Given the description of an element on the screen output the (x, y) to click on. 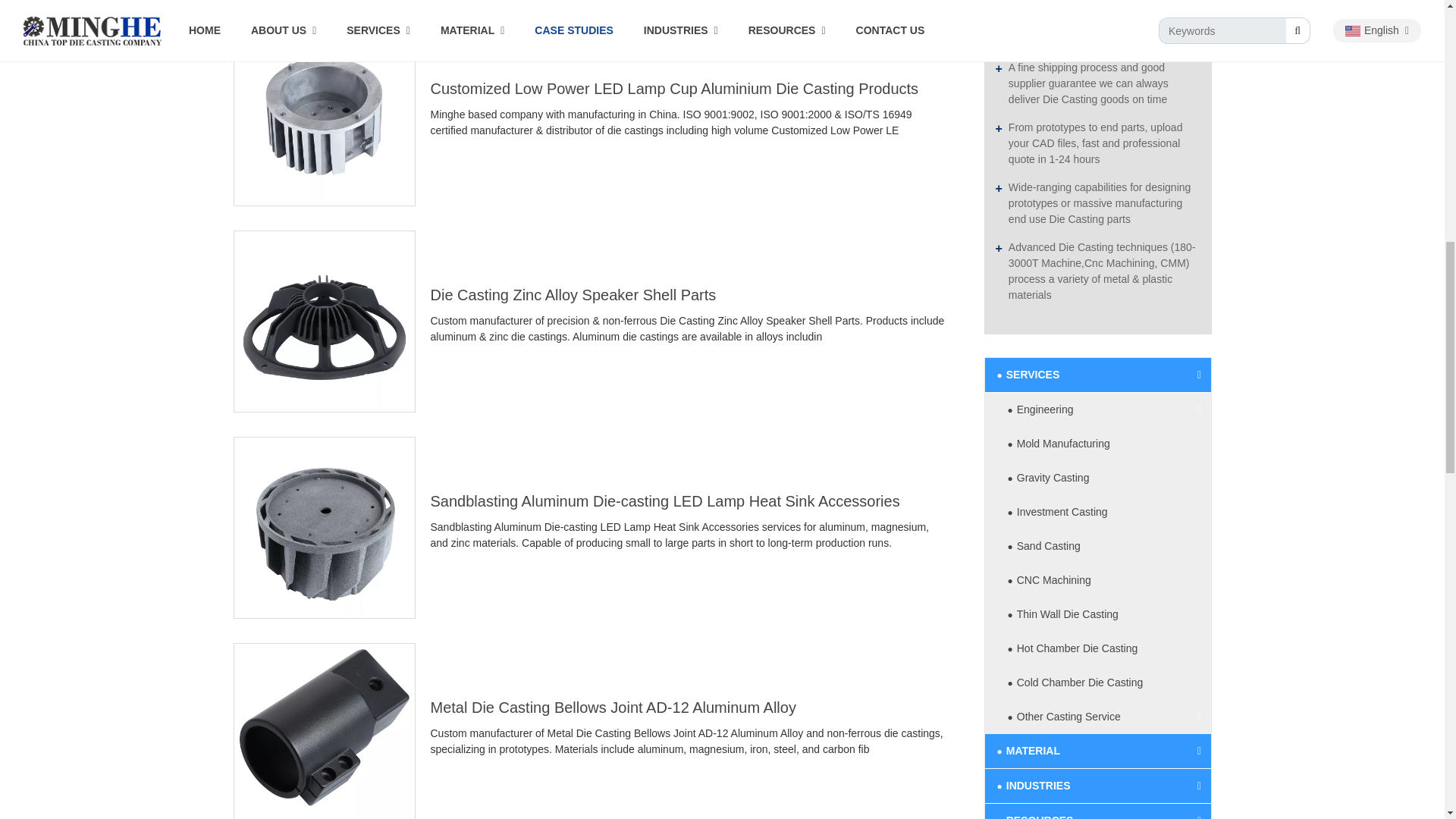
Die Casting Zinc Alloy Speaker Shell Parts (323, 321)
Metal Die Casting Bellows Joint AD-12 Aluminum Alloy (323, 732)
